Given the description of an element on the screen output the (x, y) to click on. 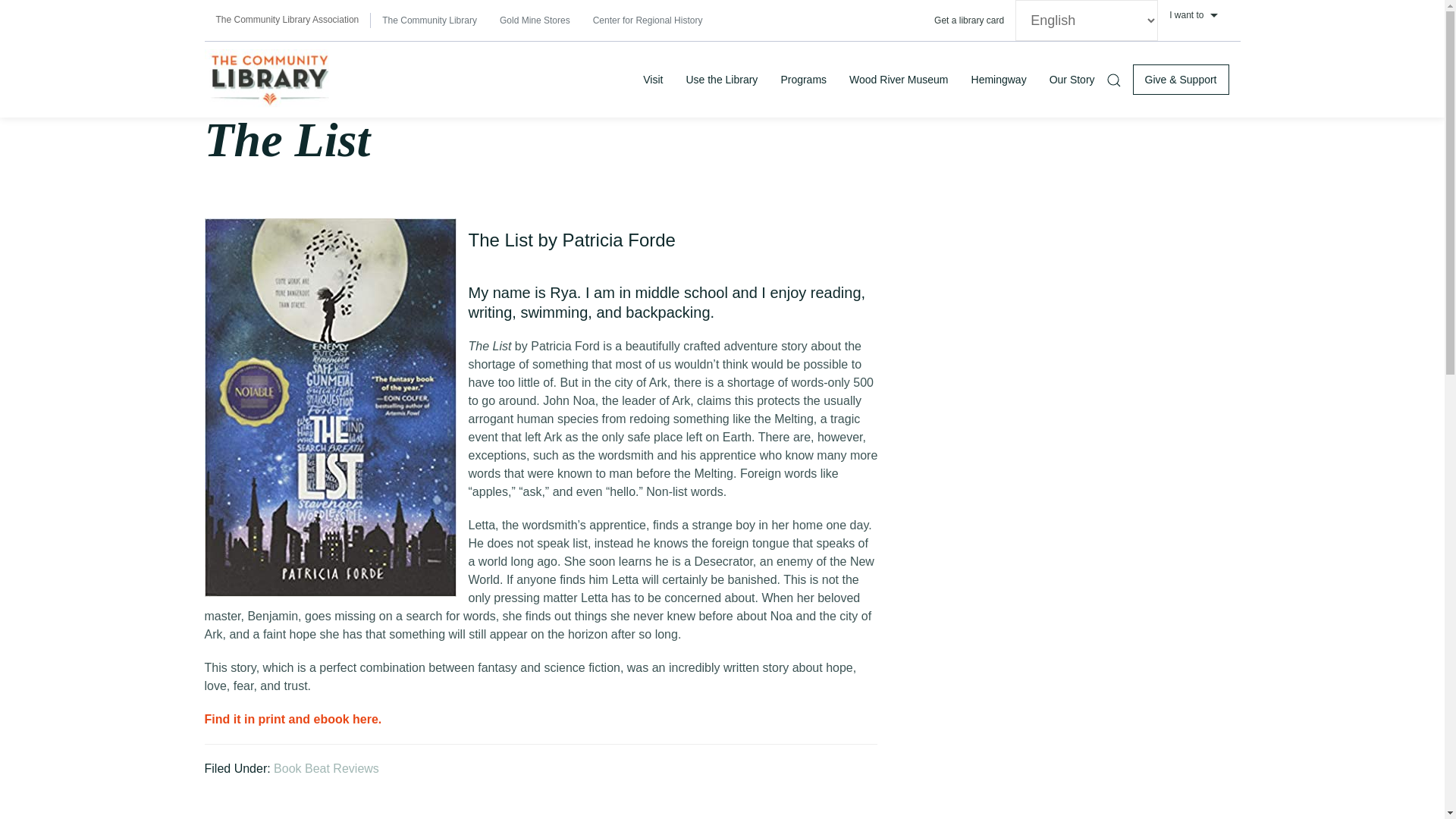
Gold Mine Stores (533, 20)
Use the Library (721, 79)
Get a library card (968, 20)
I want to (1198, 15)
Programs (803, 79)
Center for Regional History (647, 20)
The Community Library (429, 20)
